Given the description of an element on the screen output the (x, y) to click on. 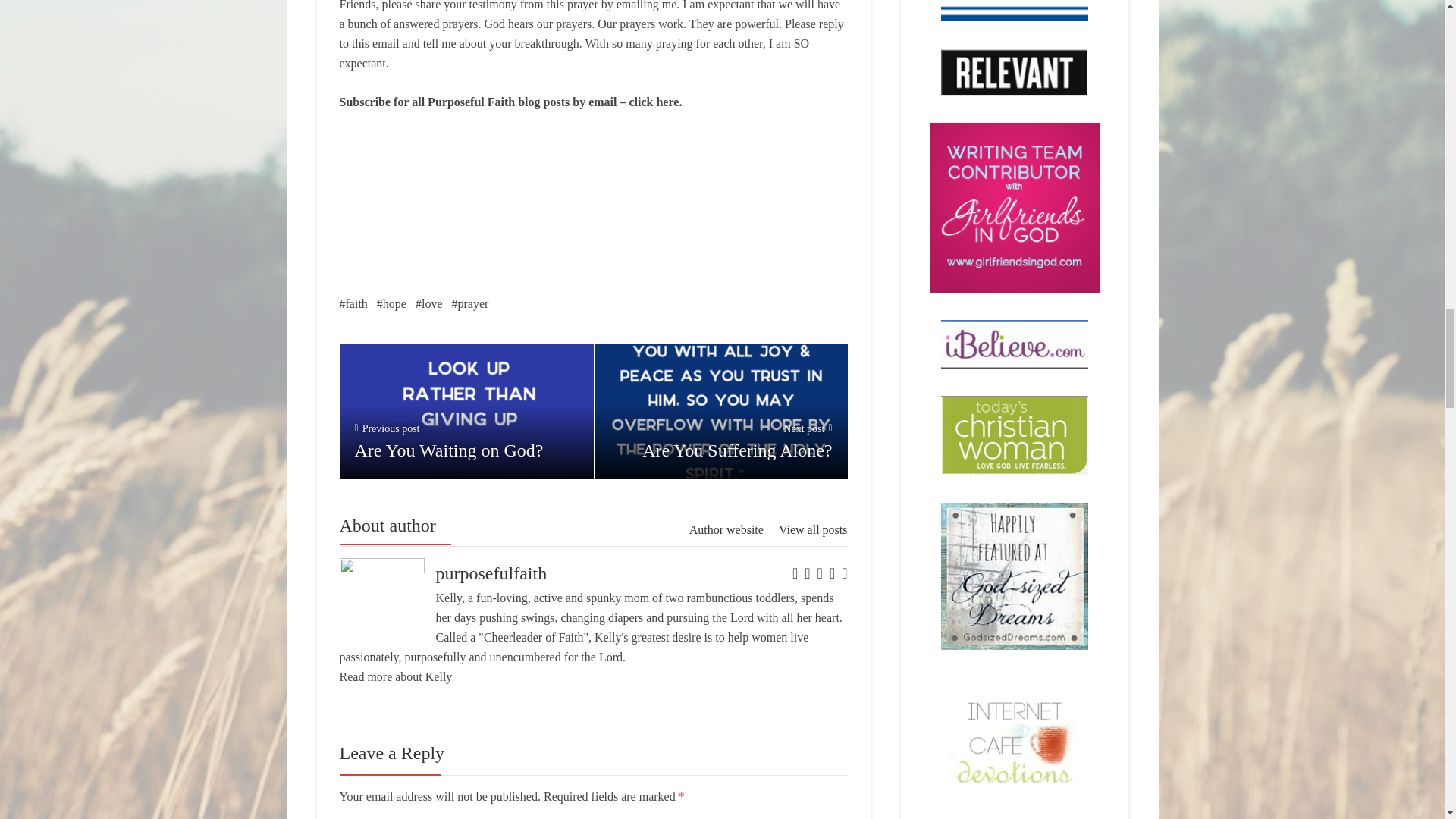
click here. (654, 101)
View all posts (812, 529)
Author website (725, 529)
love (720, 410)
prayer (428, 303)
hope (469, 303)
faith (391, 303)
Read more about Kelly (353, 303)
